Given the description of an element on the screen output the (x, y) to click on. 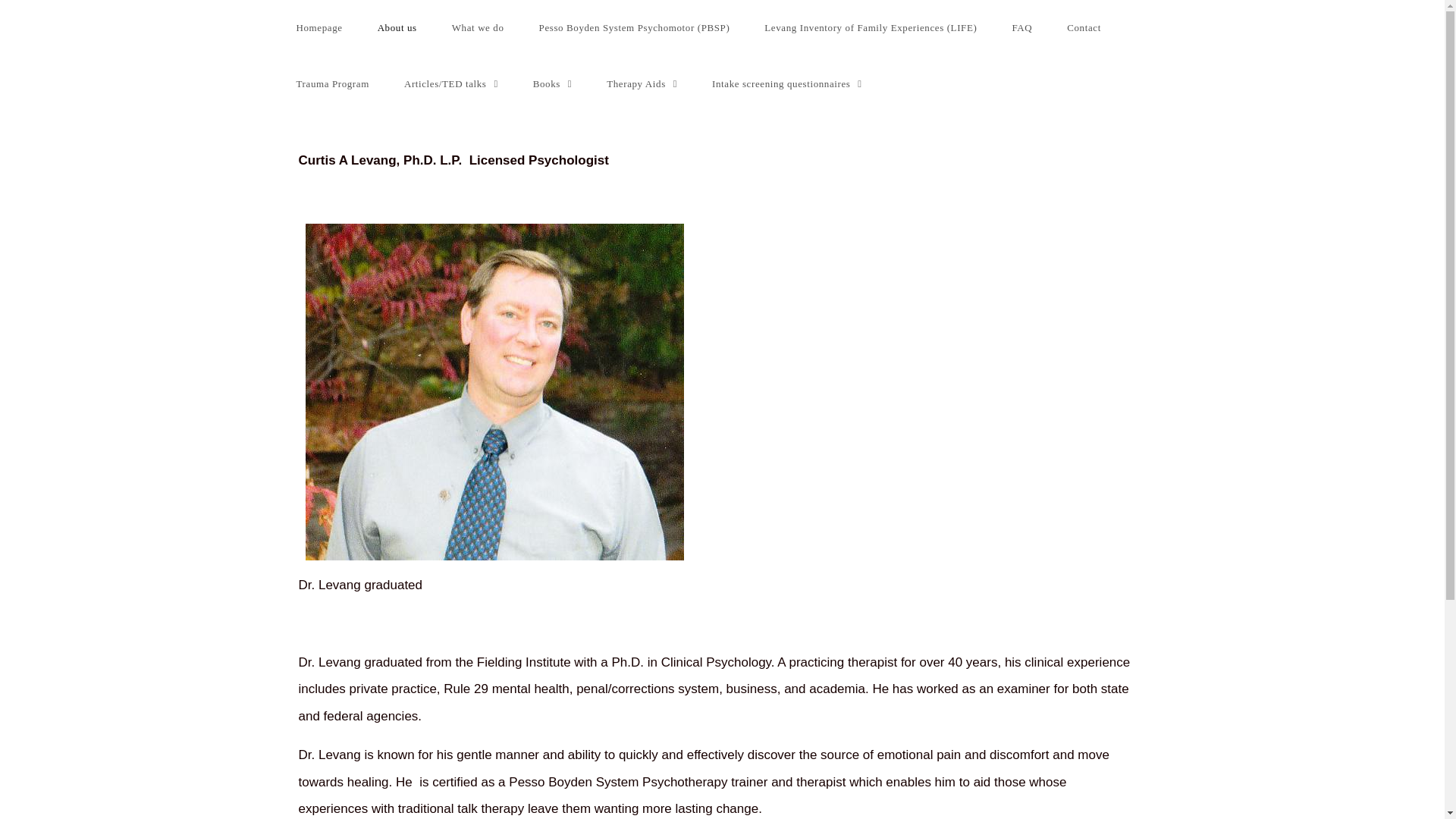
Contact (1083, 28)
About us (396, 28)
Homepage (319, 28)
FAQ (1021, 28)
Therapy Aids (641, 84)
Trauma Program (333, 84)
Intake screening questionnaires (786, 84)
Books (552, 84)
What we do (477, 28)
